Given the description of an element on the screen output the (x, y) to click on. 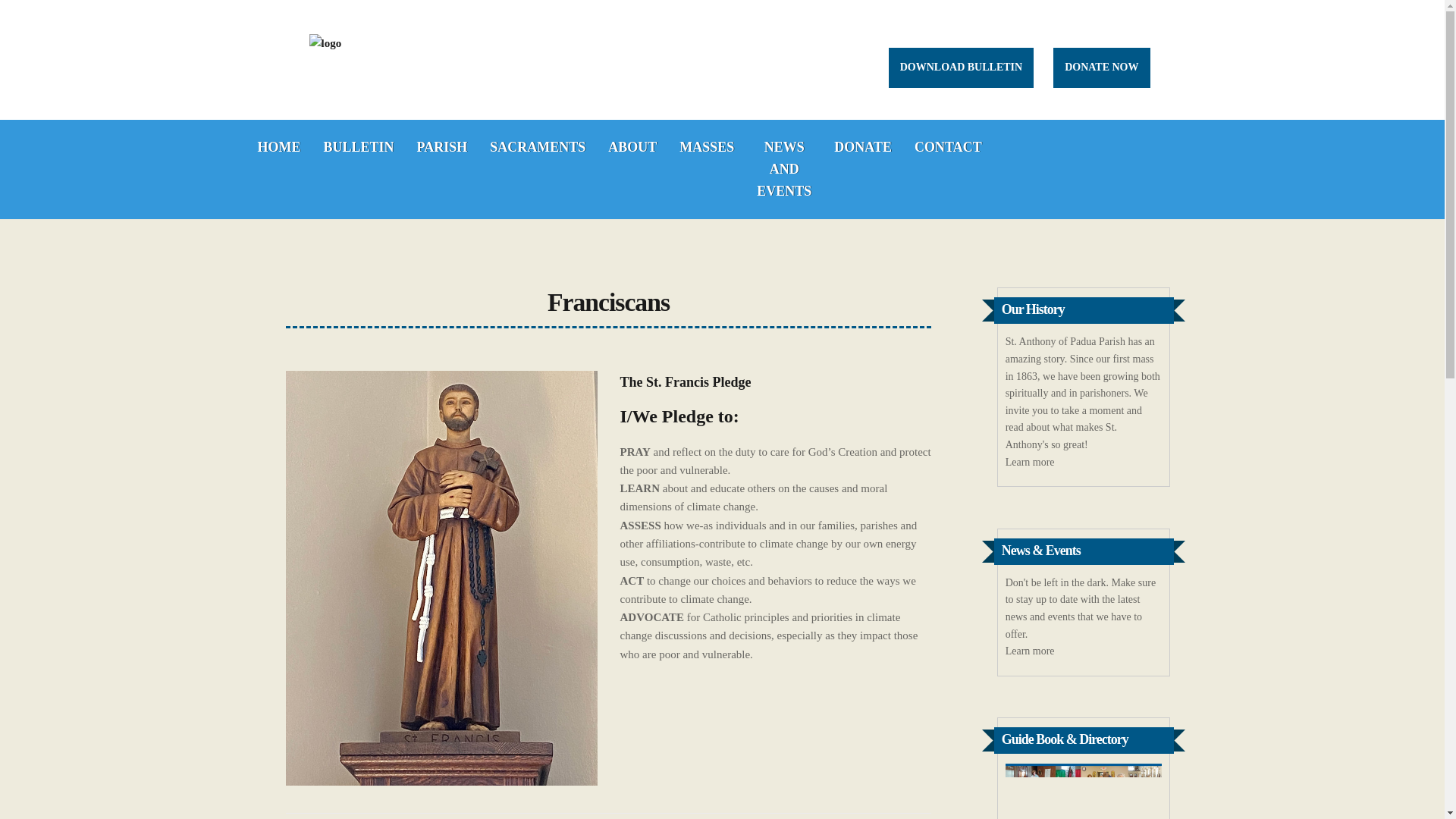
Learn more (1030, 650)
PARISH (442, 147)
DOWNLOAD BULLETIN (960, 67)
Learn more (1030, 650)
BULLETIN (359, 147)
ABOUT (632, 147)
CONTACT (947, 147)
Learn more (1030, 461)
HOME (278, 147)
